Given the description of an element on the screen output the (x, y) to click on. 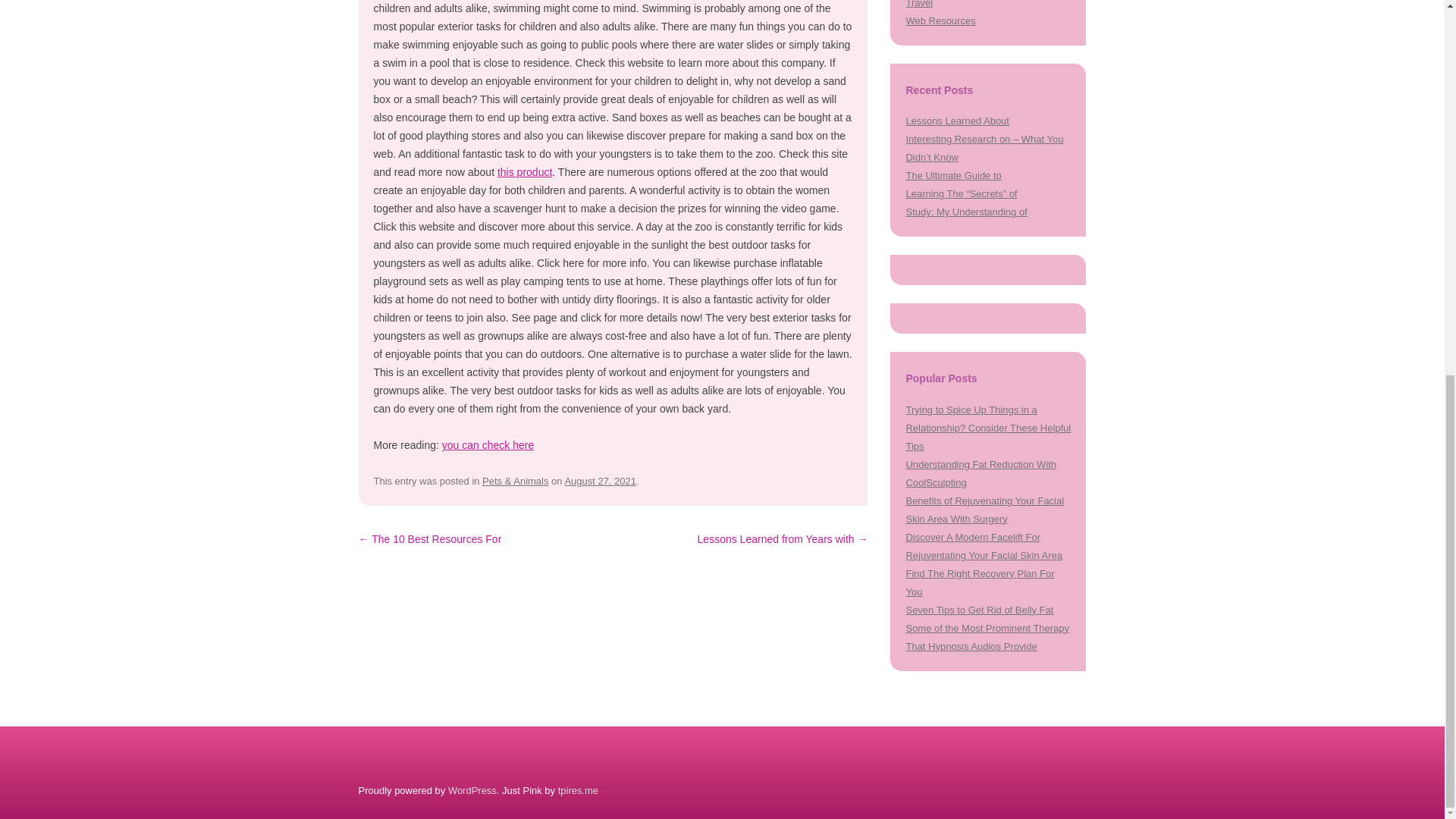
Seven Tips to Get Rid of Belly Fat (978, 609)
this product (524, 172)
Lessons Learned About (957, 120)
Understanding Fat Reduction With CoolSculpting (980, 473)
The Ultimate Guide to (953, 174)
August 27, 2021 (600, 480)
4:50 am (600, 480)
Web Resources (940, 20)
